Given the description of an element on the screen output the (x, y) to click on. 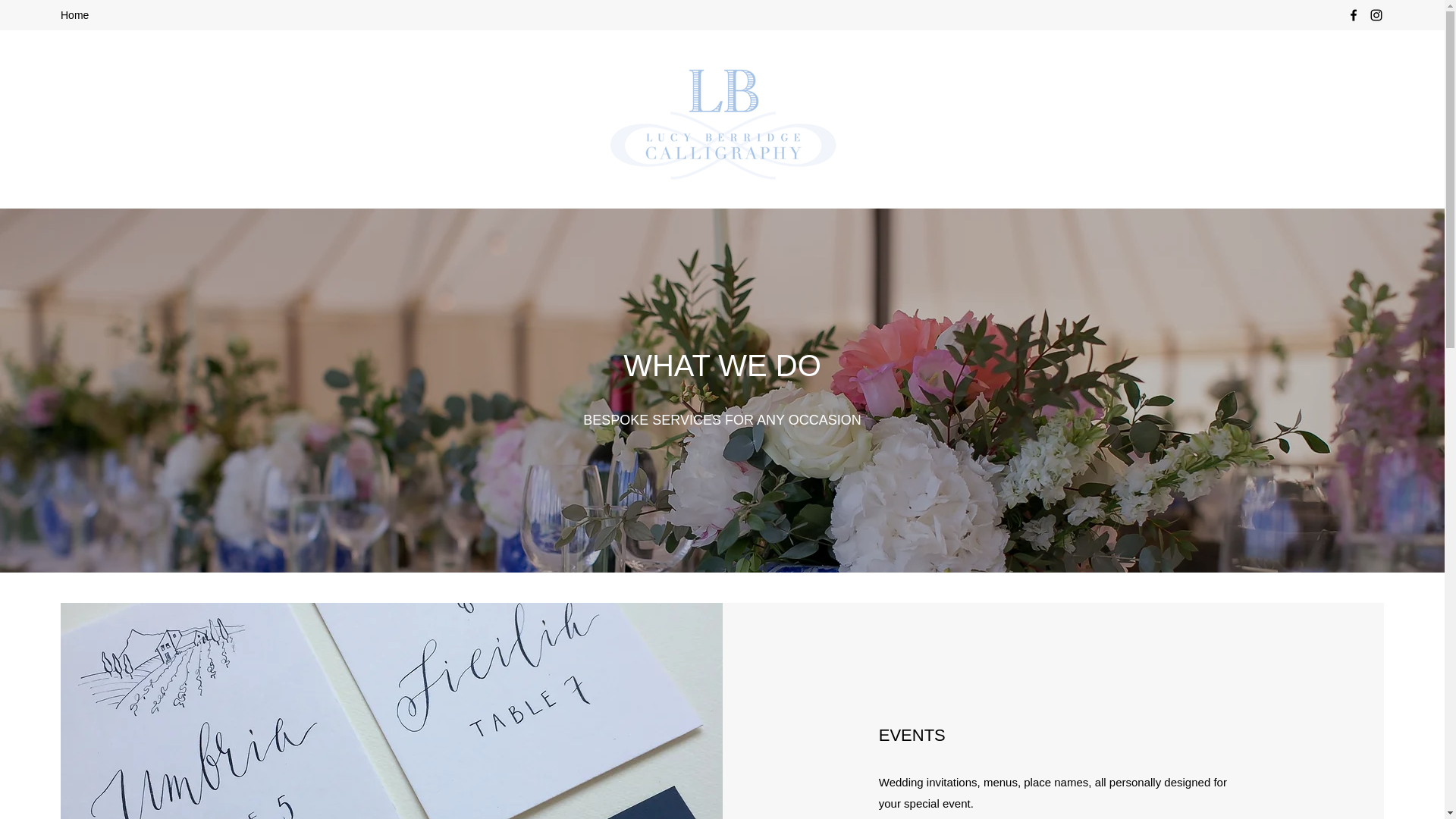
Home (74, 15)
